Given the description of an element on the screen output the (x, y) to click on. 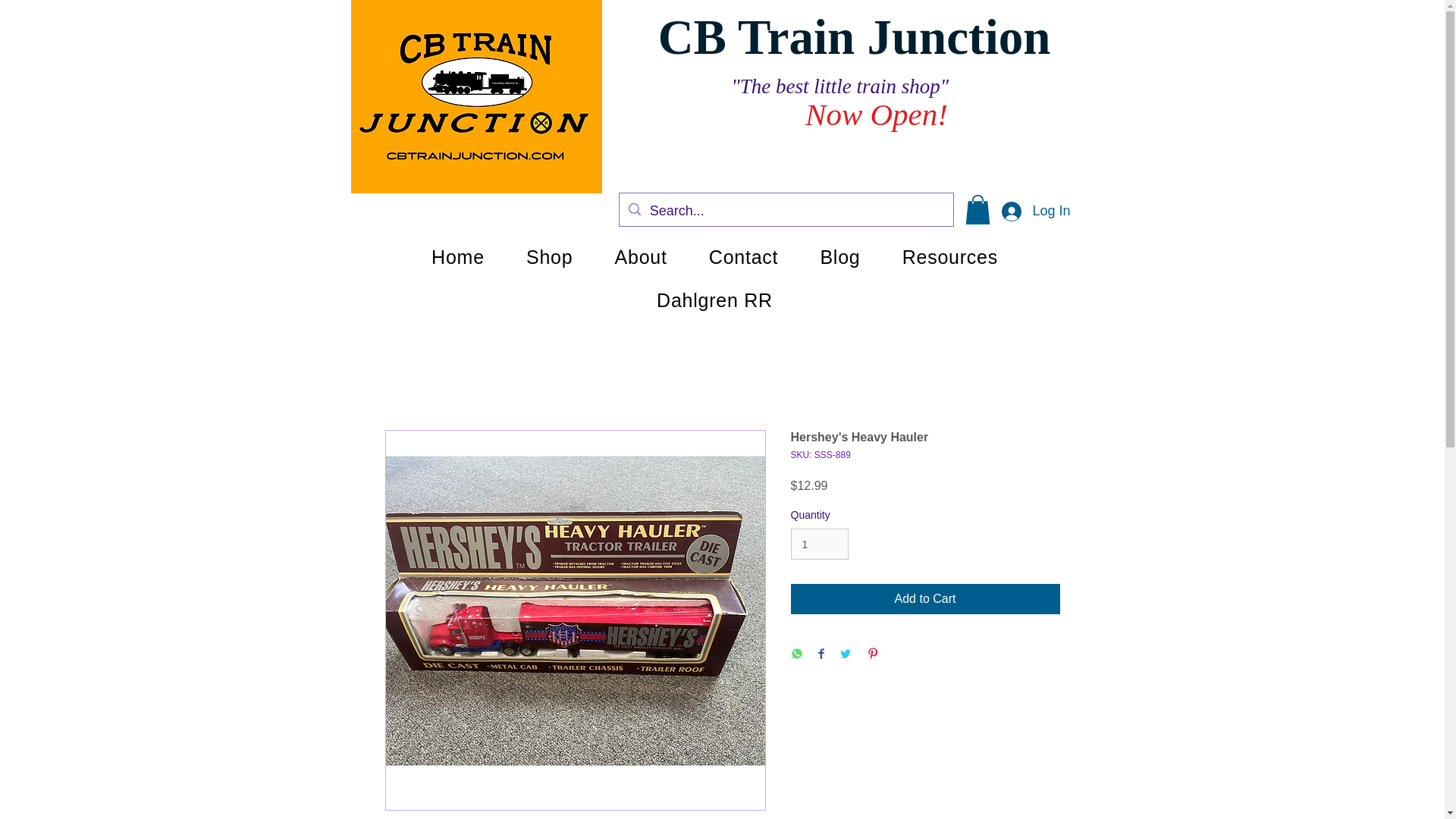
Resources (948, 257)
About (640, 257)
Blog (839, 257)
Home (457, 257)
1 (818, 543)
Dahlgren RR (714, 300)
Contact (743, 257)
Shop (549, 257)
Log In (1035, 211)
Add to Cart (924, 598)
